Given the description of an element on the screen output the (x, y) to click on. 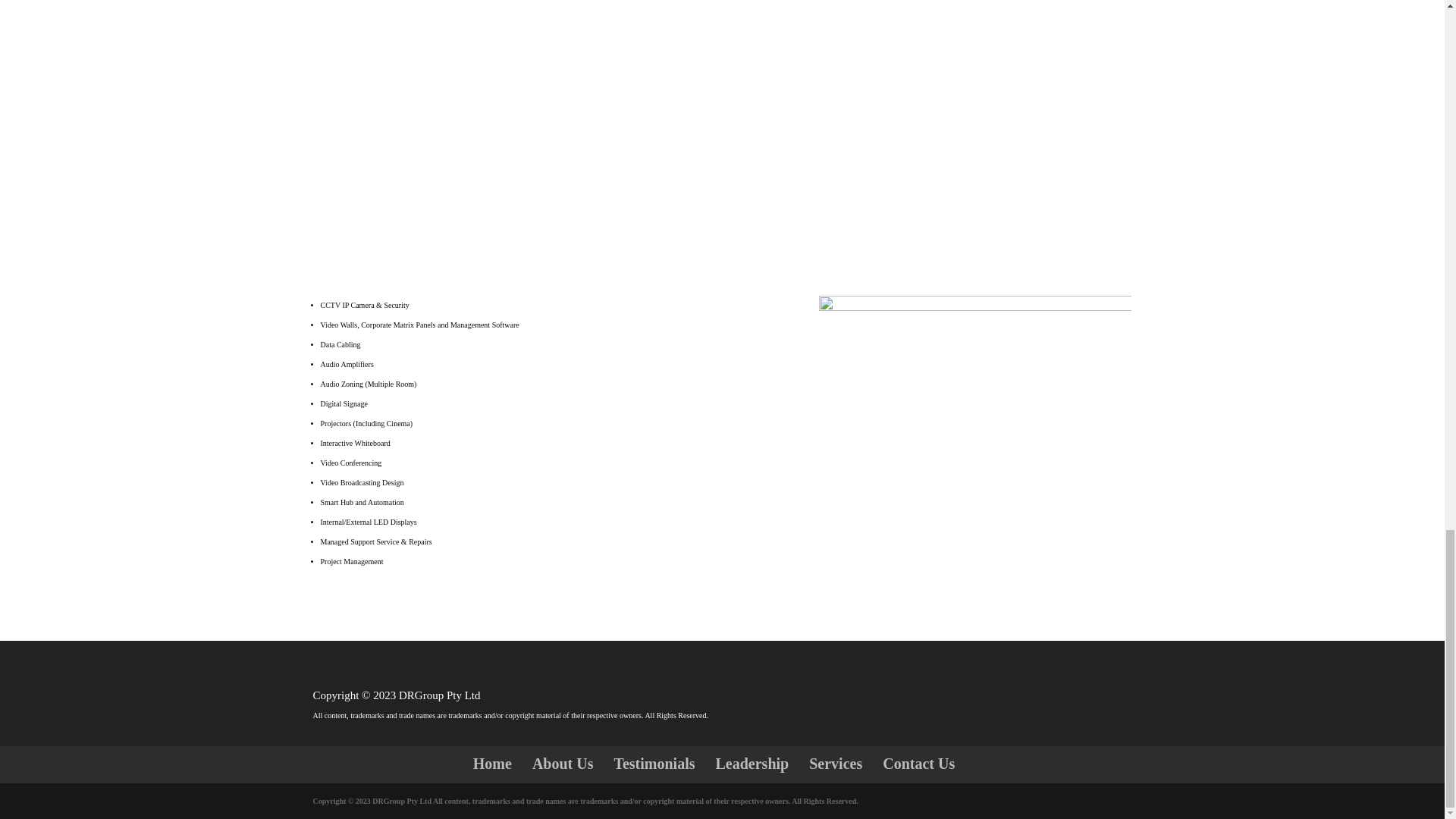
Testimonials (653, 763)
Home (492, 763)
server-1235959 (975, 399)
Contact Us (918, 763)
Leadership (752, 763)
Services (835, 763)
About Us (563, 763)
